Given the description of an element on the screen output the (x, y) to click on. 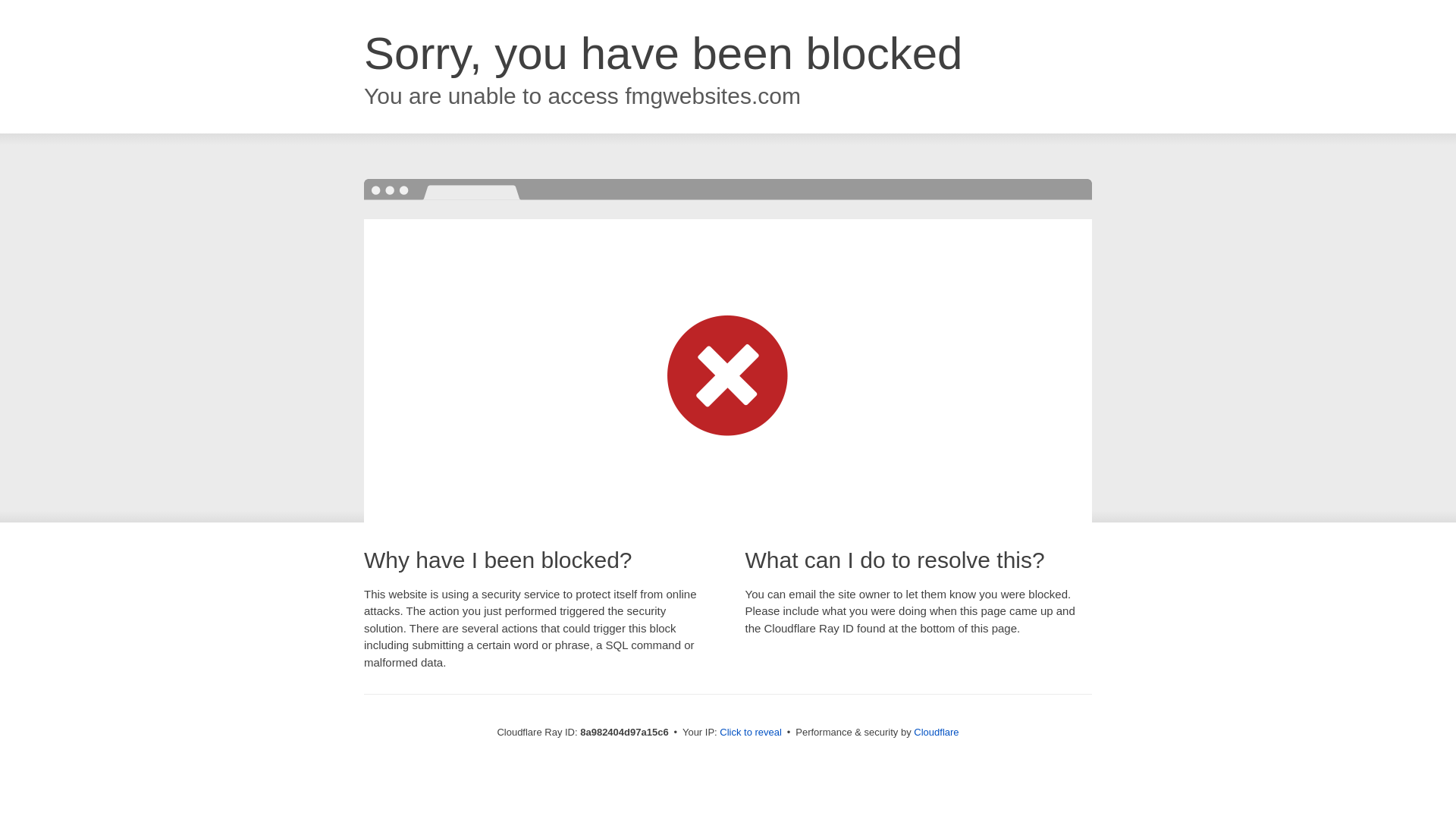
Click to reveal (750, 732)
Cloudflare (936, 731)
